Given the description of an element on the screen output the (x, y) to click on. 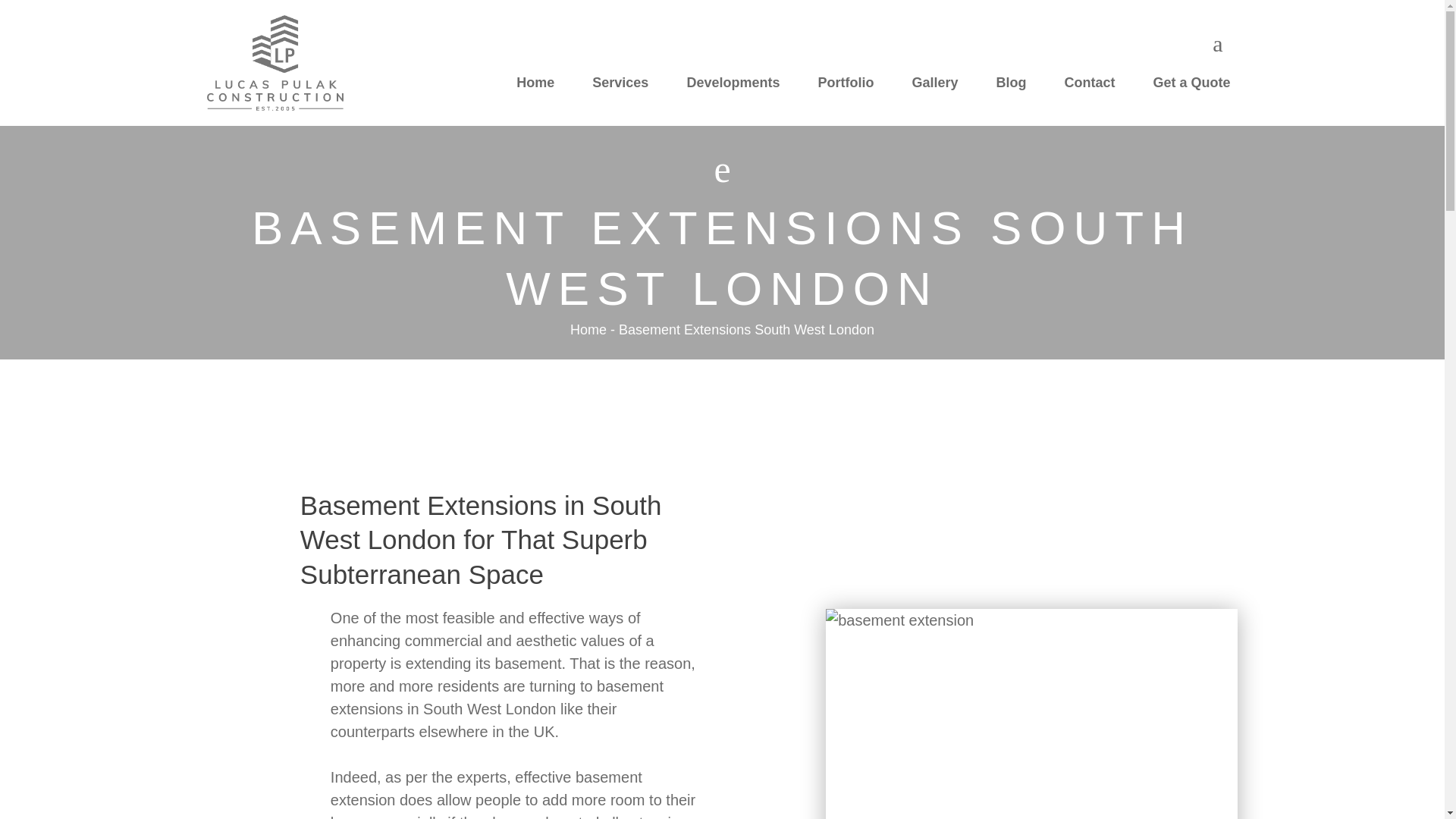
Services (619, 82)
Home (588, 329)
Gallery (934, 82)
icon (1217, 43)
Home (535, 82)
Portfolio (844, 82)
Blog (1010, 82)
Get a Quote (1191, 82)
Back to Homepage (274, 62)
Contact (1089, 82)
Developments (731, 82)
